Given the description of an element on the screen output the (x, y) to click on. 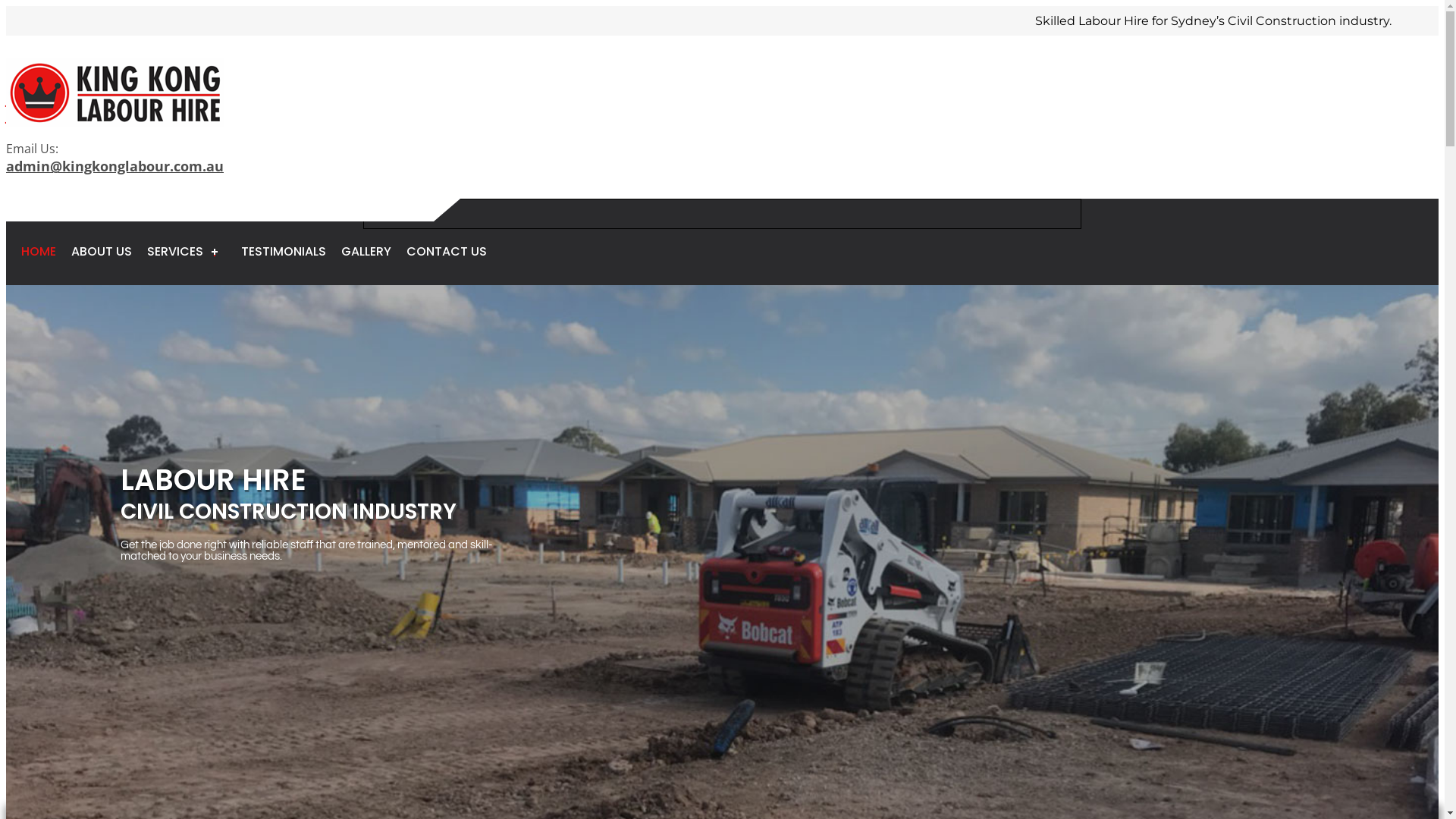
HOME Element type: text (38, 251)
CONTACT US Element type: text (446, 251)
GALLERY Element type: text (366, 251)
Tap To Call Element type: text (722, 213)
SERVICES Element type: text (186, 251)
TESTIMONIALS Element type: text (283, 251)
King Kong Labour Hire Element type: hover (115, 92)
ABOUT US Element type: text (101, 251)
admin@kingkonglabour.com.au Element type: text (114, 165)
